Given the description of an element on the screen output the (x, y) to click on. 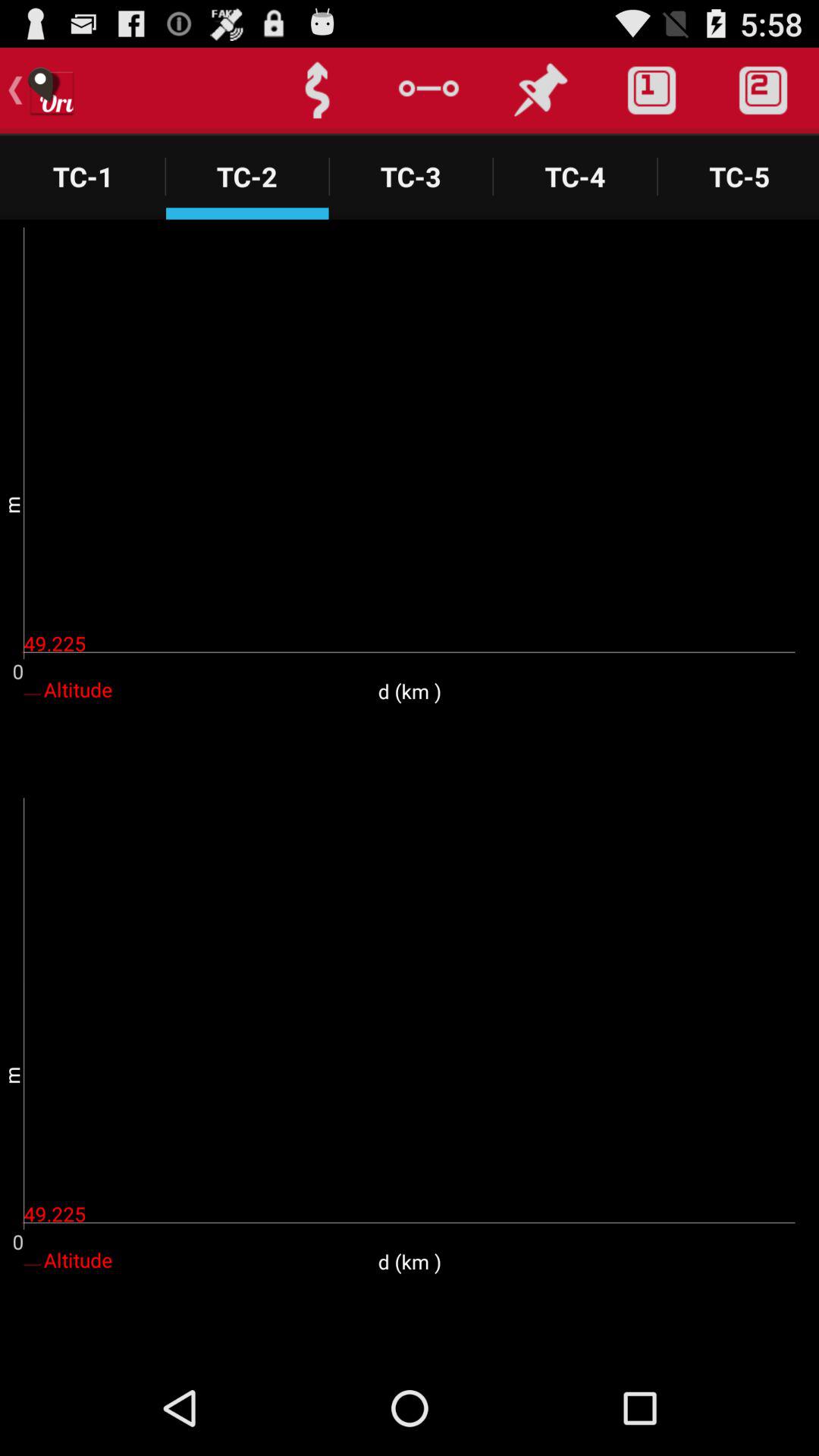
pin this (540, 90)
